Given the description of an element on the screen output the (x, y) to click on. 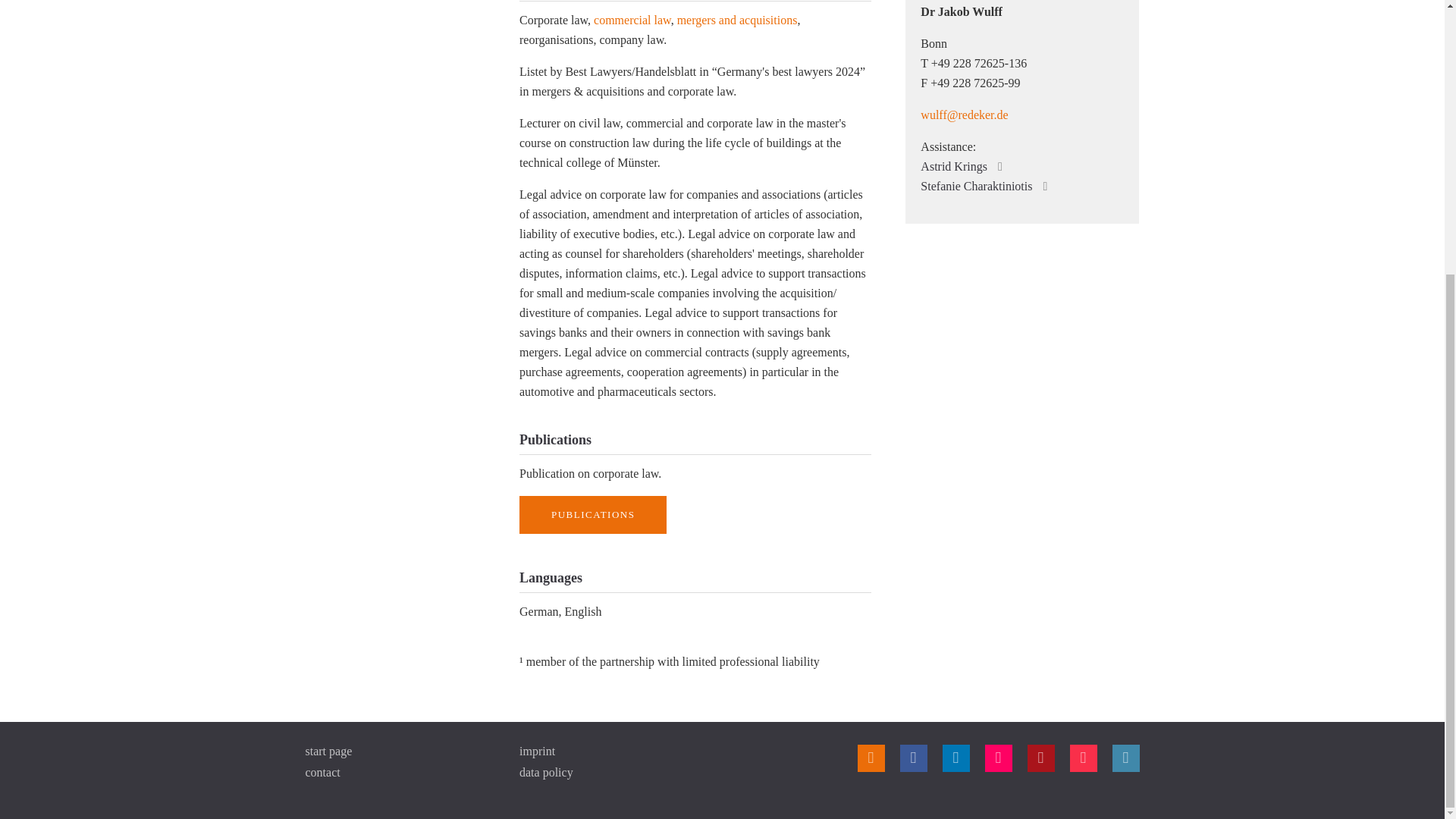
vCard (1090, 14)
PDF version (1066, 14)
